Given the description of an element on the screen output the (x, y) to click on. 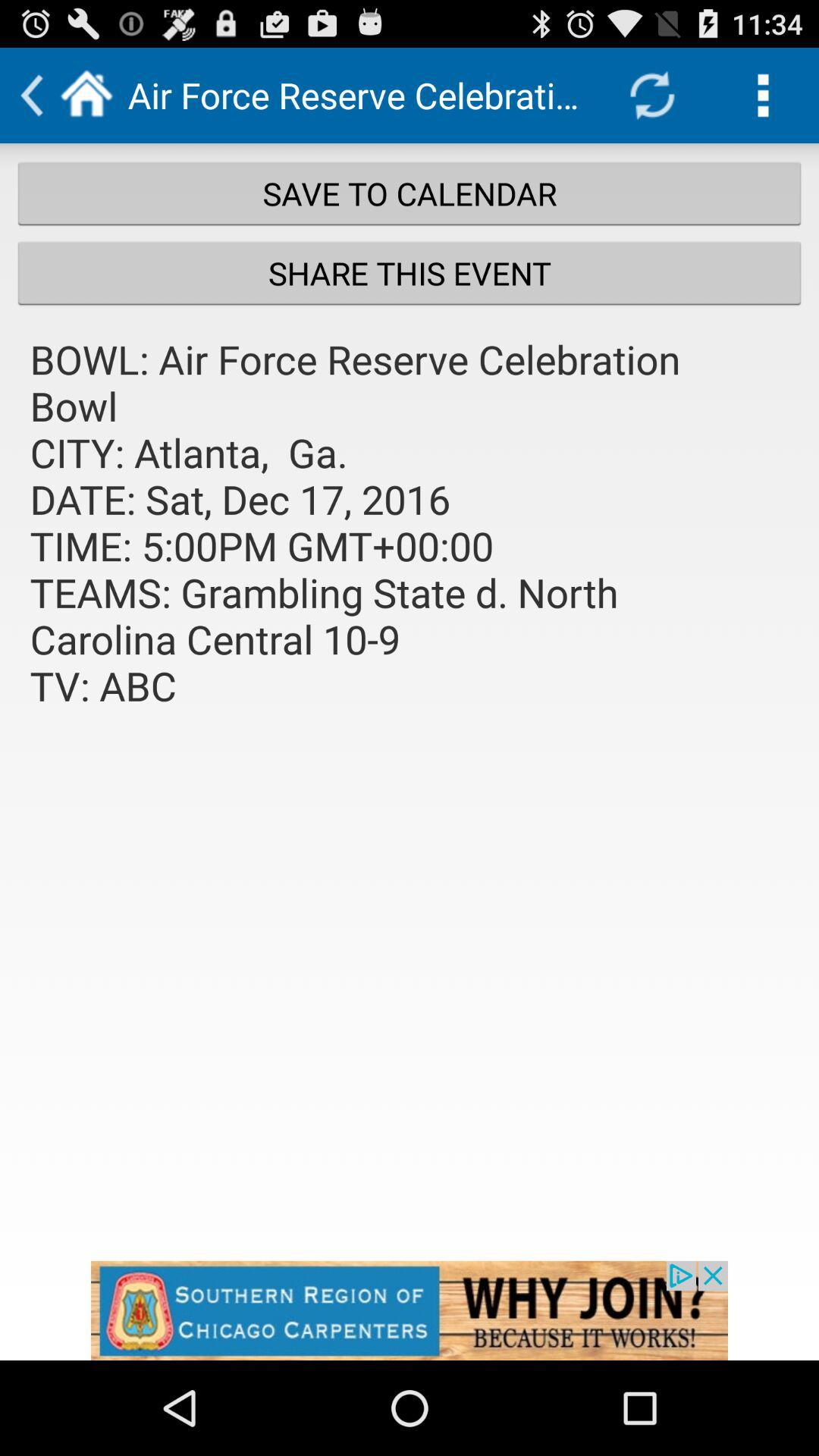
space where you access advertising (409, 1310)
